Given the description of an element on the screen output the (x, y) to click on. 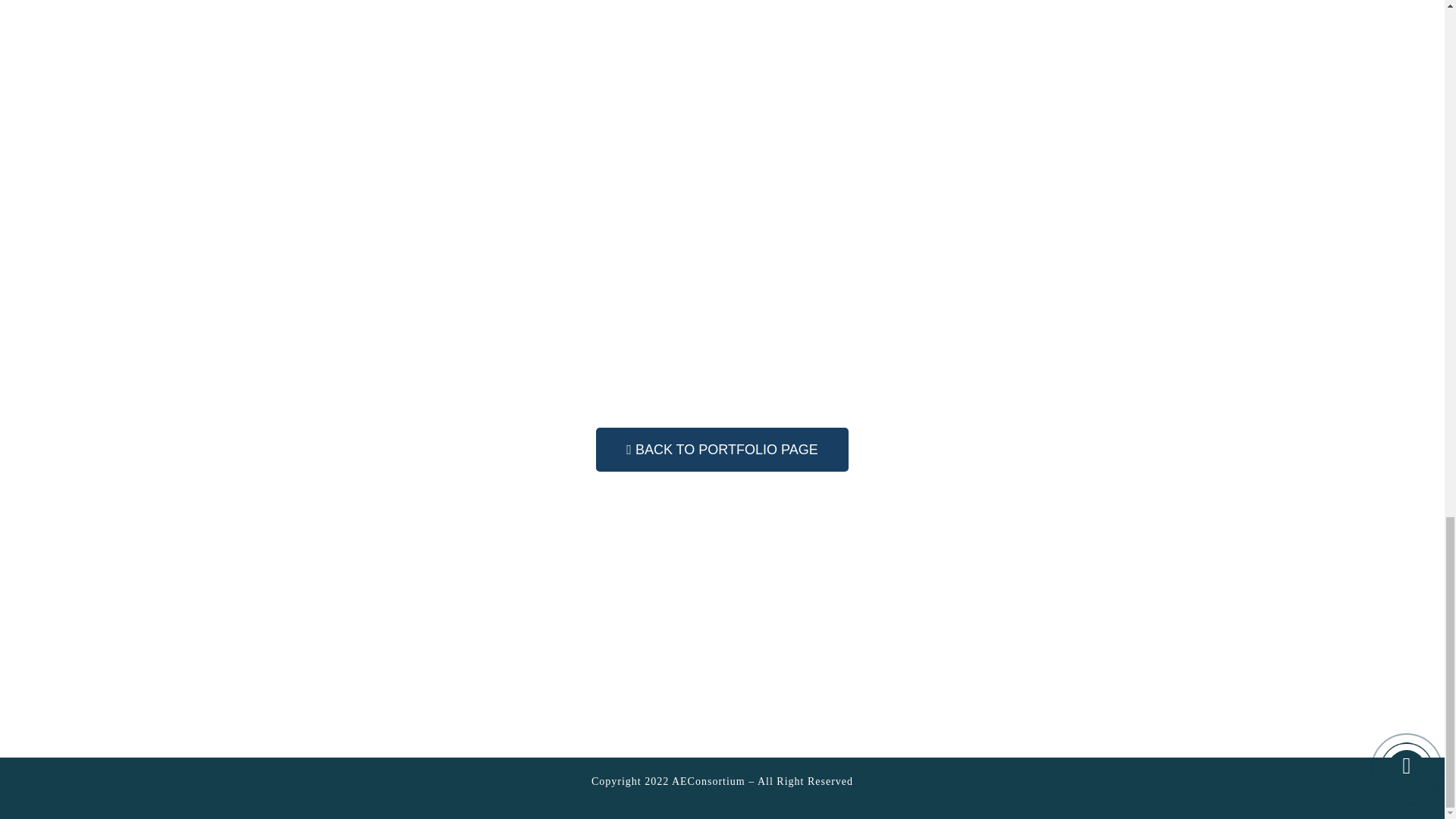
BACK TO PORTFOLIO PAGE (721, 449)
